Given the description of an element on the screen output the (x, y) to click on. 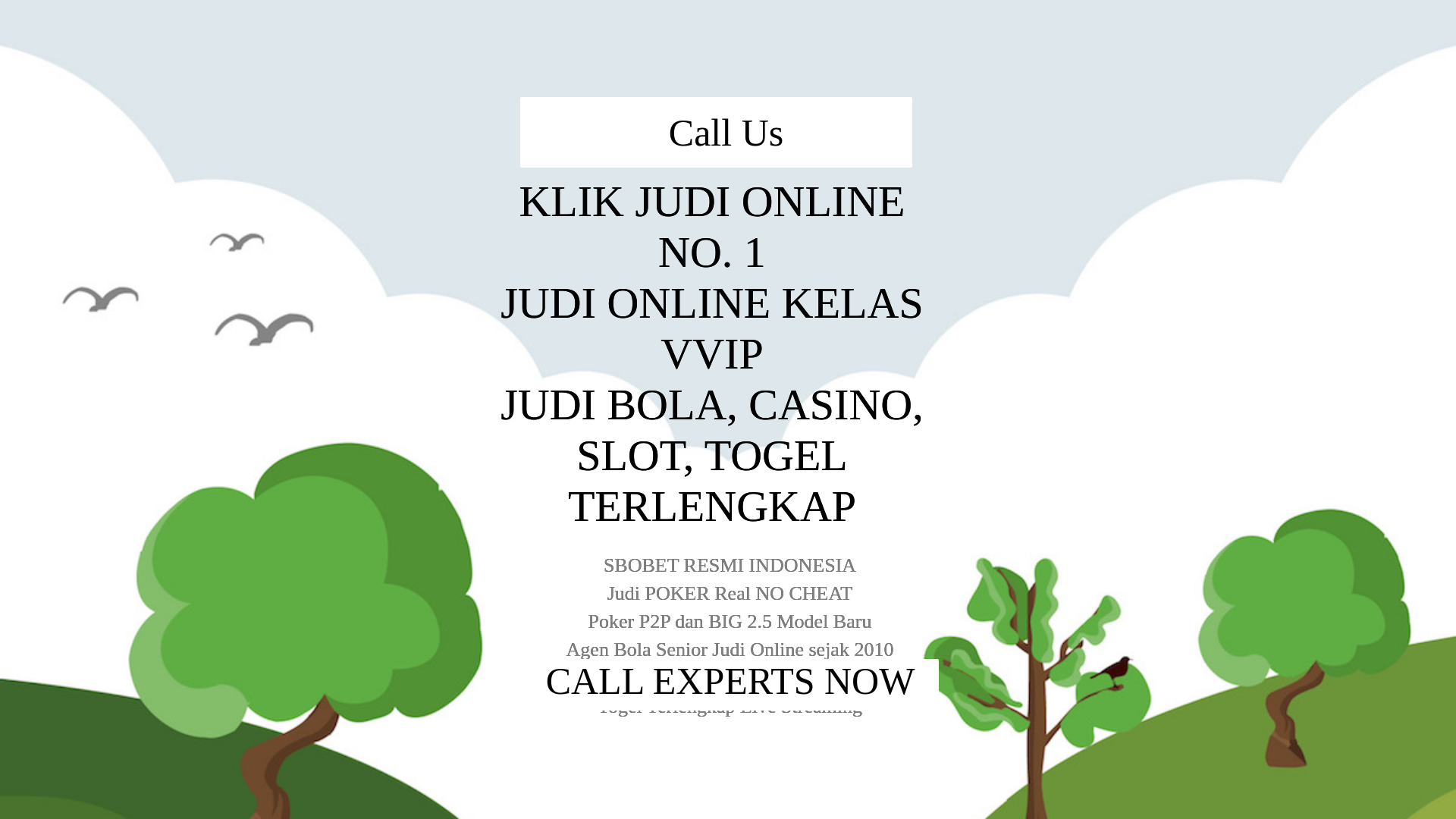
SBOBET RESMI INDONESIA (727, 385)
ibosport alternatif (697, 249)
Judi POKER Real NO CHEAT (726, 411)
Judi Bola, Casino, Slot, Togel Terlengkap (727, 341)
Togel Terlengkap Live Streaming (727, 511)
Call Us (1133, 32)
Poker P2P dan BIG 2.5 Model Baru (728, 435)
Call Us (727, 568)
Judi Online Kelas VVIP (727, 308)
KLIK JUDI ONLINE No. 1 (727, 276)
Agen Bola Senior Judi Online sejak 2010 (727, 461)
KOLAMHOKI.COM (397, 25)
